Given the description of an element on the screen output the (x, y) to click on. 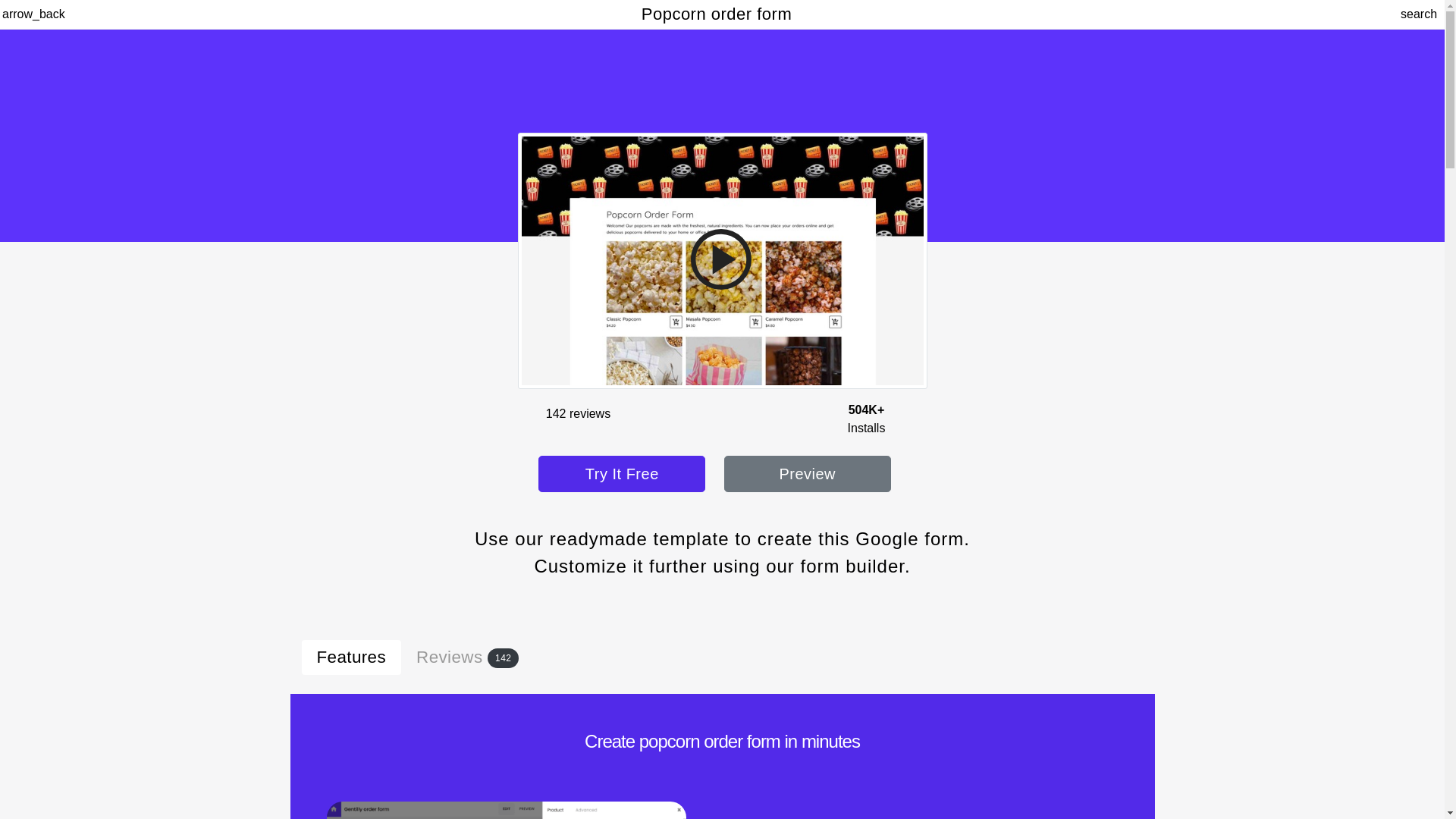
Features (351, 657)
Reviews 142 (467, 657)
4.6 stars on Google Workspace Marketplace (578, 412)
Preview (807, 473)
Search templates (1411, 13)
Try It Free (621, 473)
